Given the description of an element on the screen output the (x, y) to click on. 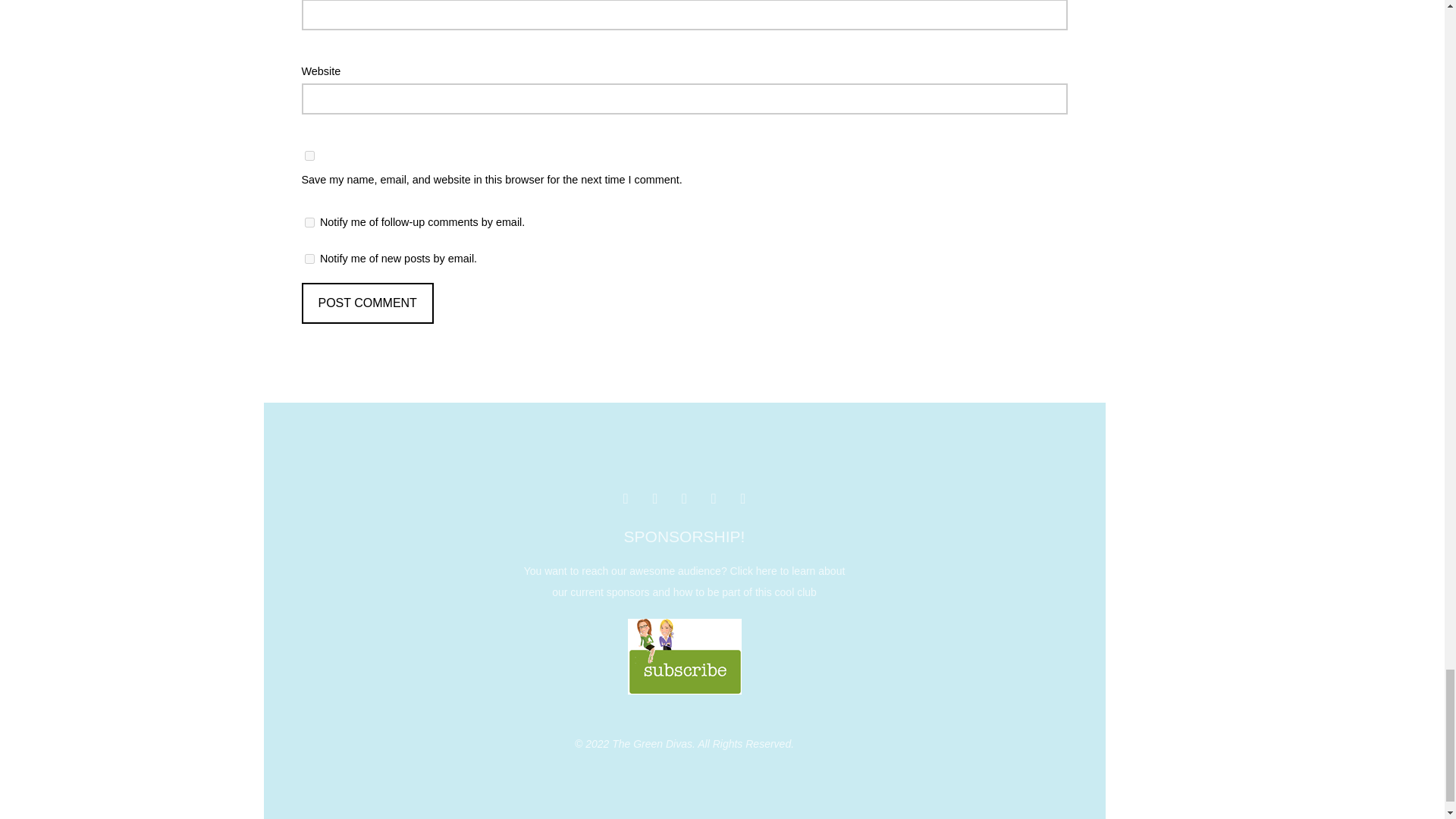
subscribe (309, 258)
subscribe (309, 222)
yes (309, 155)
Post Comment (367, 302)
